Given the description of an element on the screen output the (x, y) to click on. 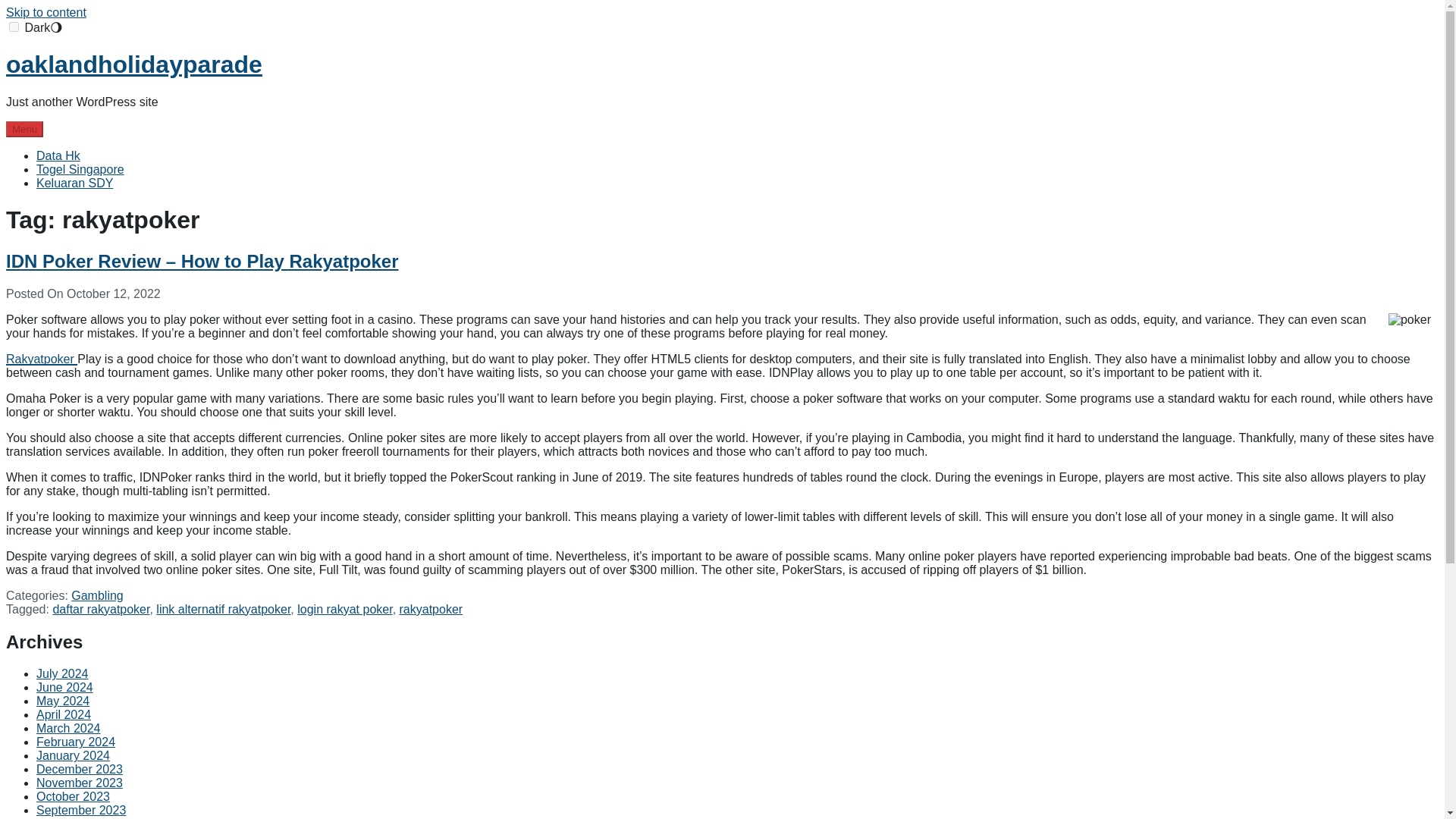
January 2024 (73, 755)
Data Hk (58, 155)
Rakyatpoker (41, 358)
November 2023 (79, 782)
April 2024 (63, 714)
Skip to content (45, 11)
oaklandholidayparade (133, 63)
Keluaran SDY (74, 182)
link alternatif rakyatpoker (222, 608)
on (13, 26)
February 2024 (75, 741)
September 2023 (80, 809)
rakyatpoker (430, 608)
December 2023 (79, 768)
June 2024 (64, 686)
